Given the description of an element on the screen output the (x, y) to click on. 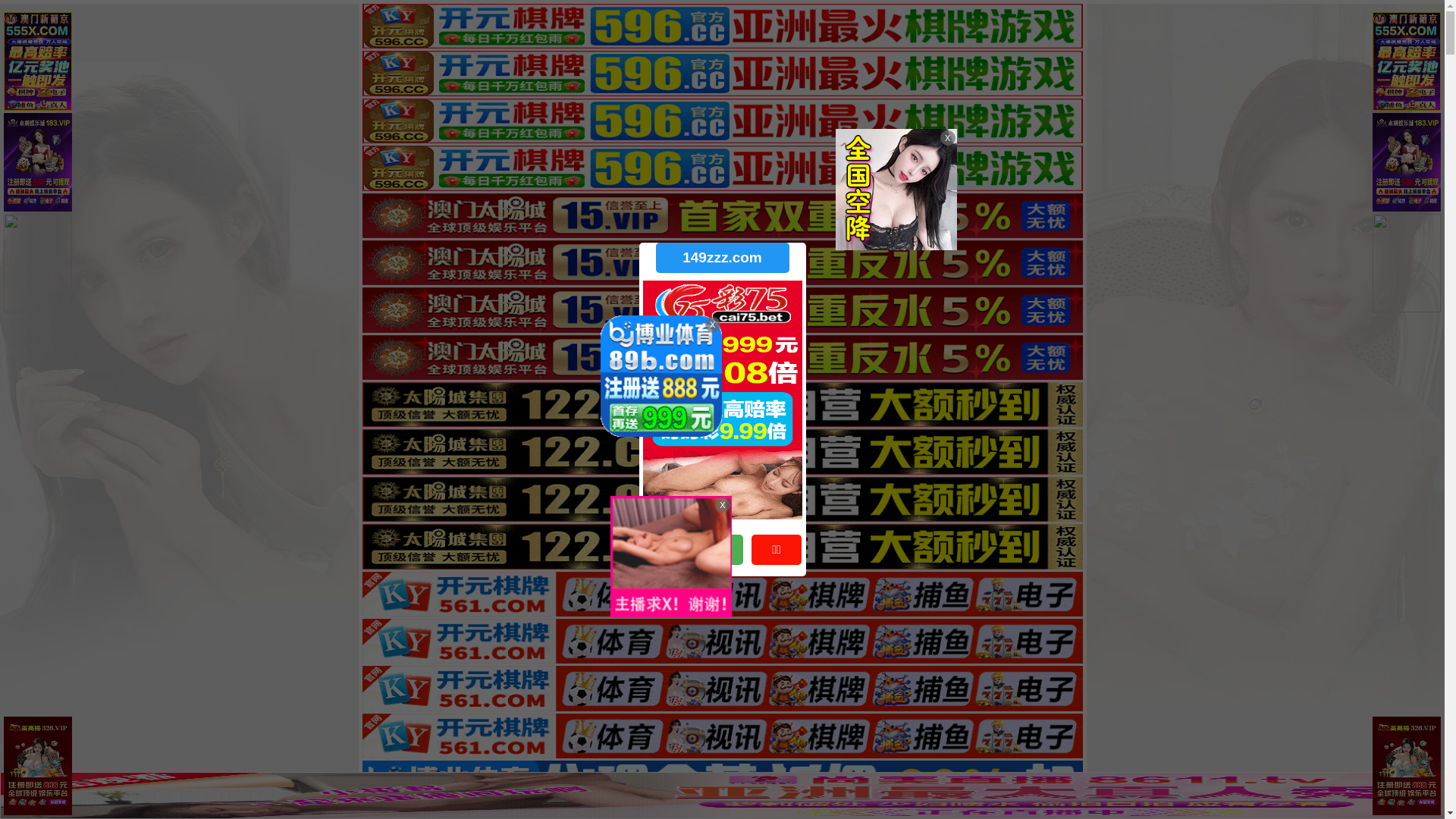
149zzz.com Element type: text (721, 257)
X Element type: text (1430, 789)
